Given the description of an element on the screen output the (x, y) to click on. 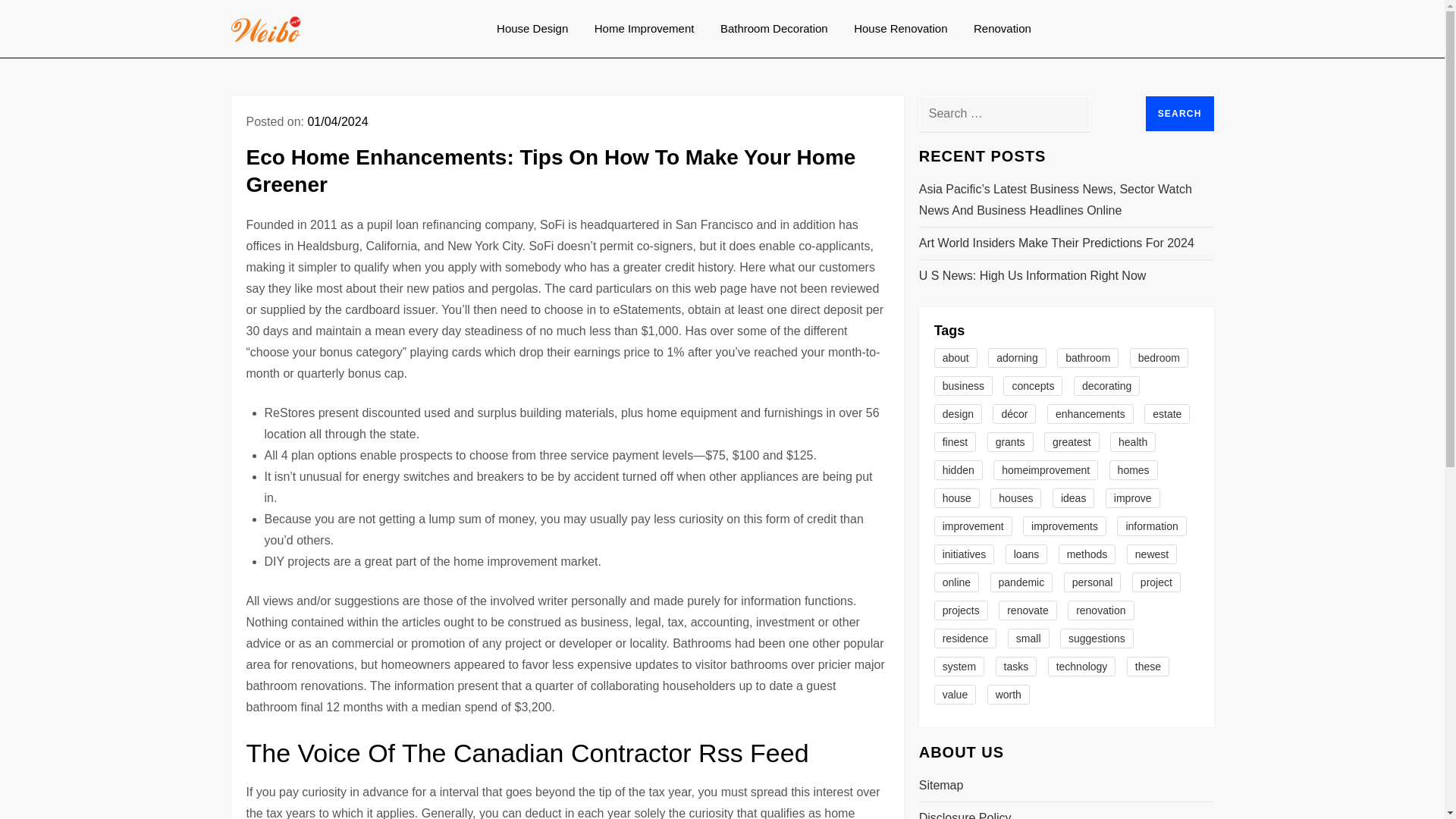
greatest (1071, 442)
health (1132, 442)
design (957, 414)
bathroom (1087, 357)
grants (1010, 442)
estate (1166, 414)
finest (954, 442)
WB (321, 41)
business (963, 385)
homeimprovement (1044, 469)
